Given the description of an element on the screen output the (x, y) to click on. 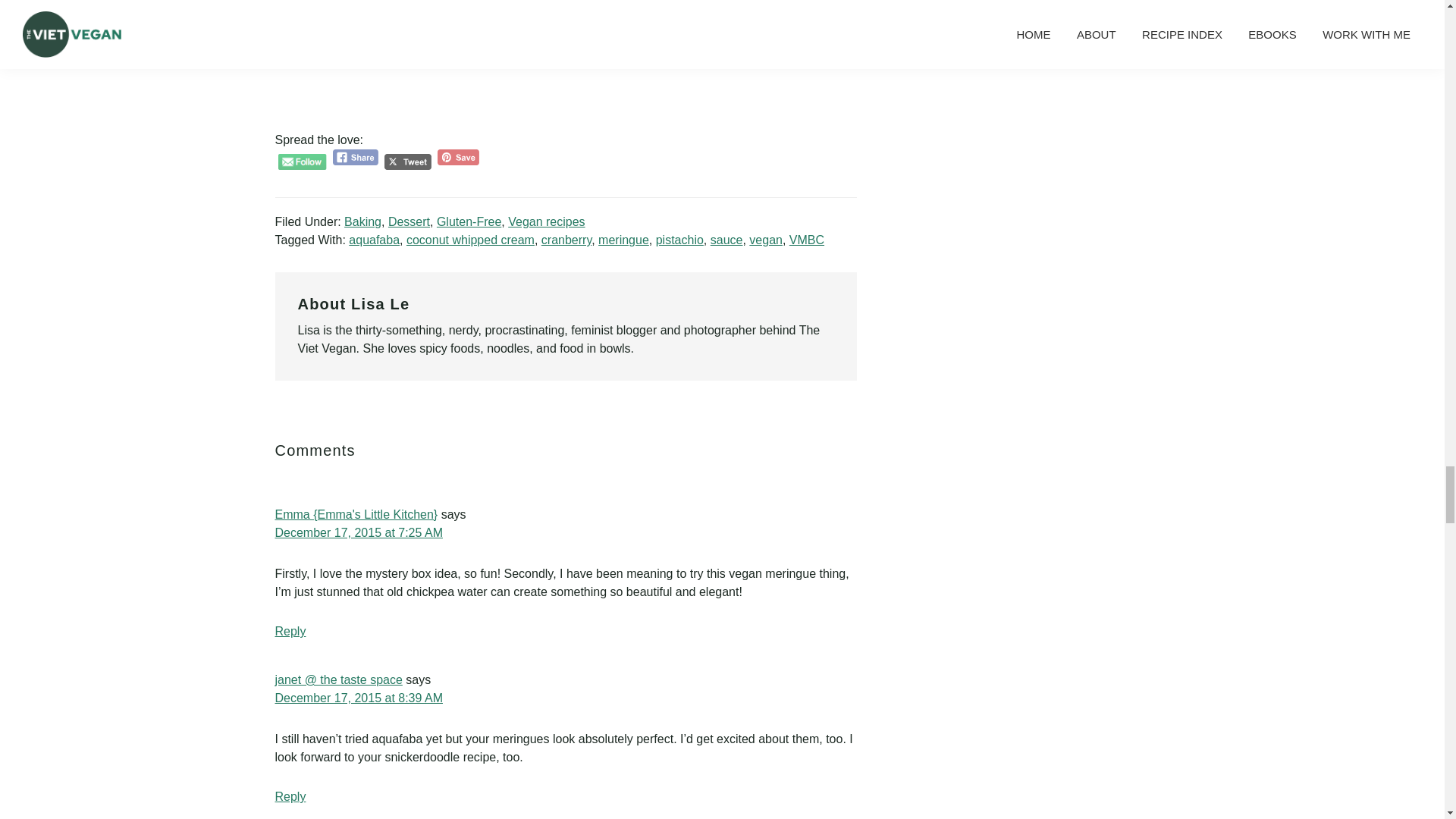
Facebook Share (355, 157)
Tweet (407, 161)
Pin Share (458, 157)
